Given the description of an element on the screen output the (x, y) to click on. 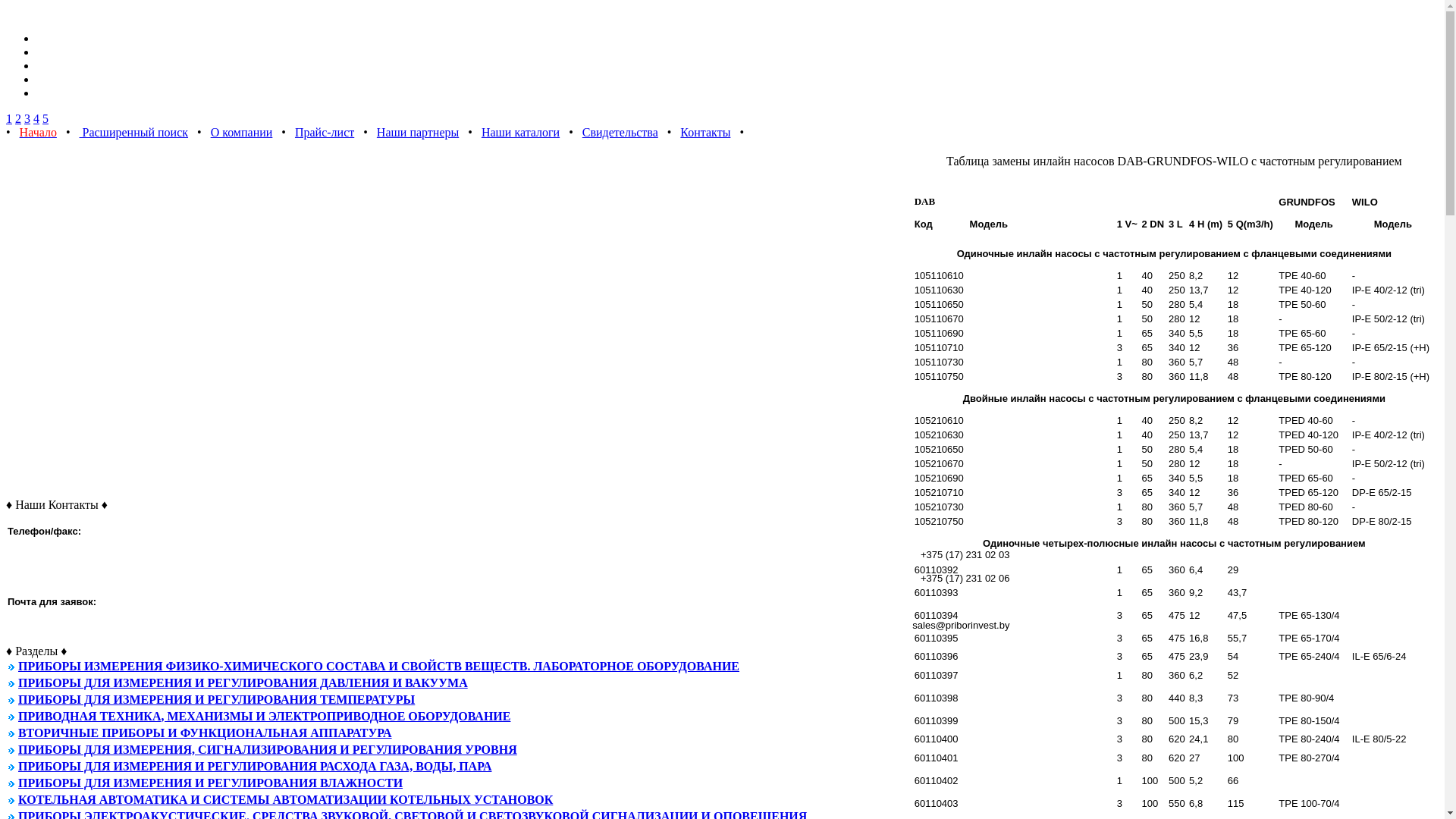
4 Element type: text (36, 118)
3 Element type: text (27, 118)
1 Element type: text (9, 118)
5 Element type: text (45, 118)
2 Element type: text (18, 118)
